Given the description of an element on the screen output the (x, y) to click on. 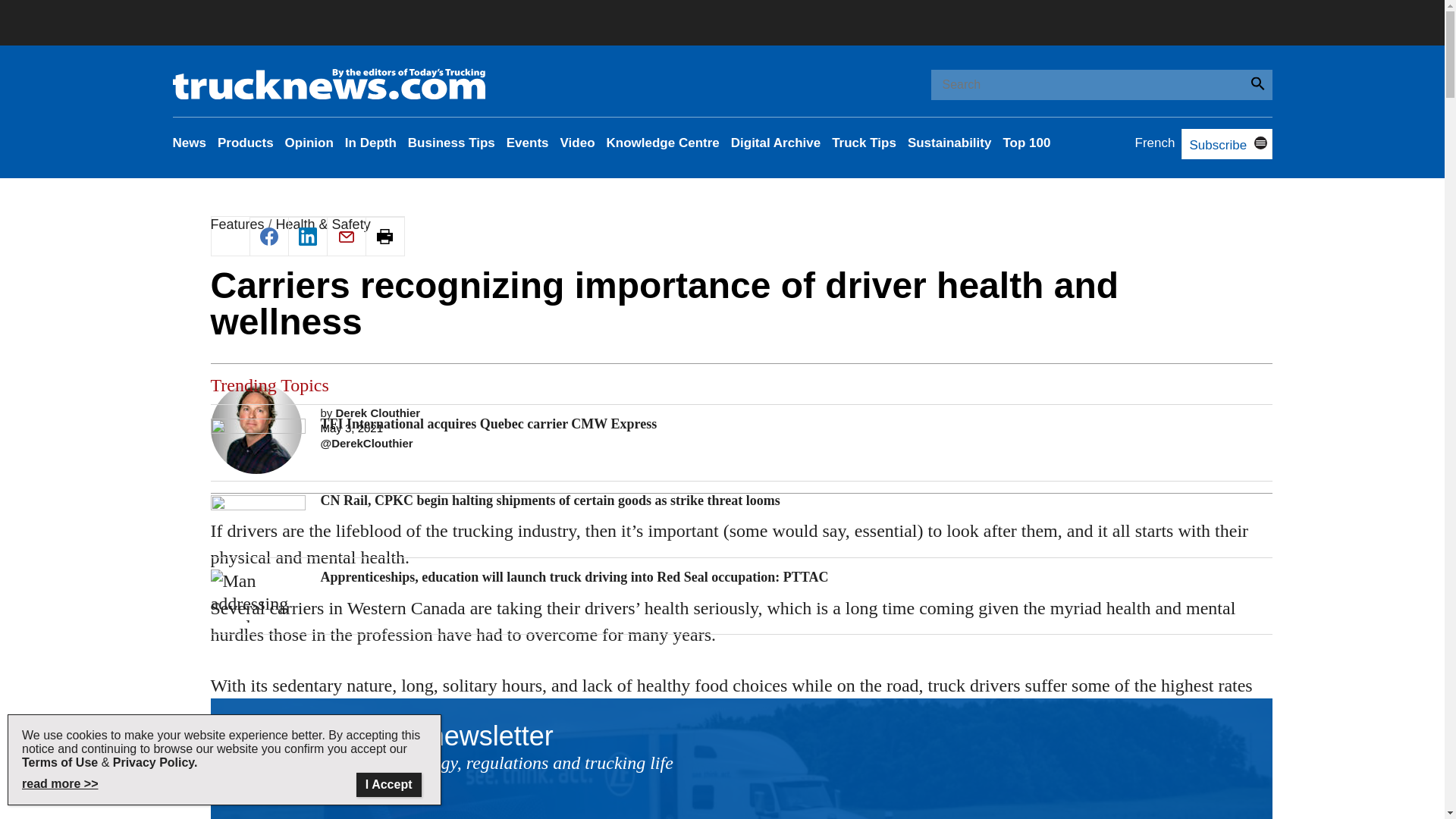
Events (527, 142)
Products (244, 142)
Sustainability (949, 142)
Truck Tips (863, 142)
Business Tips (451, 142)
Opinion (309, 142)
Video (577, 142)
Subscribe (1213, 145)
In Depth (370, 142)
Knowledge Centre (663, 142)
